Given the description of an element on the screen output the (x, y) to click on. 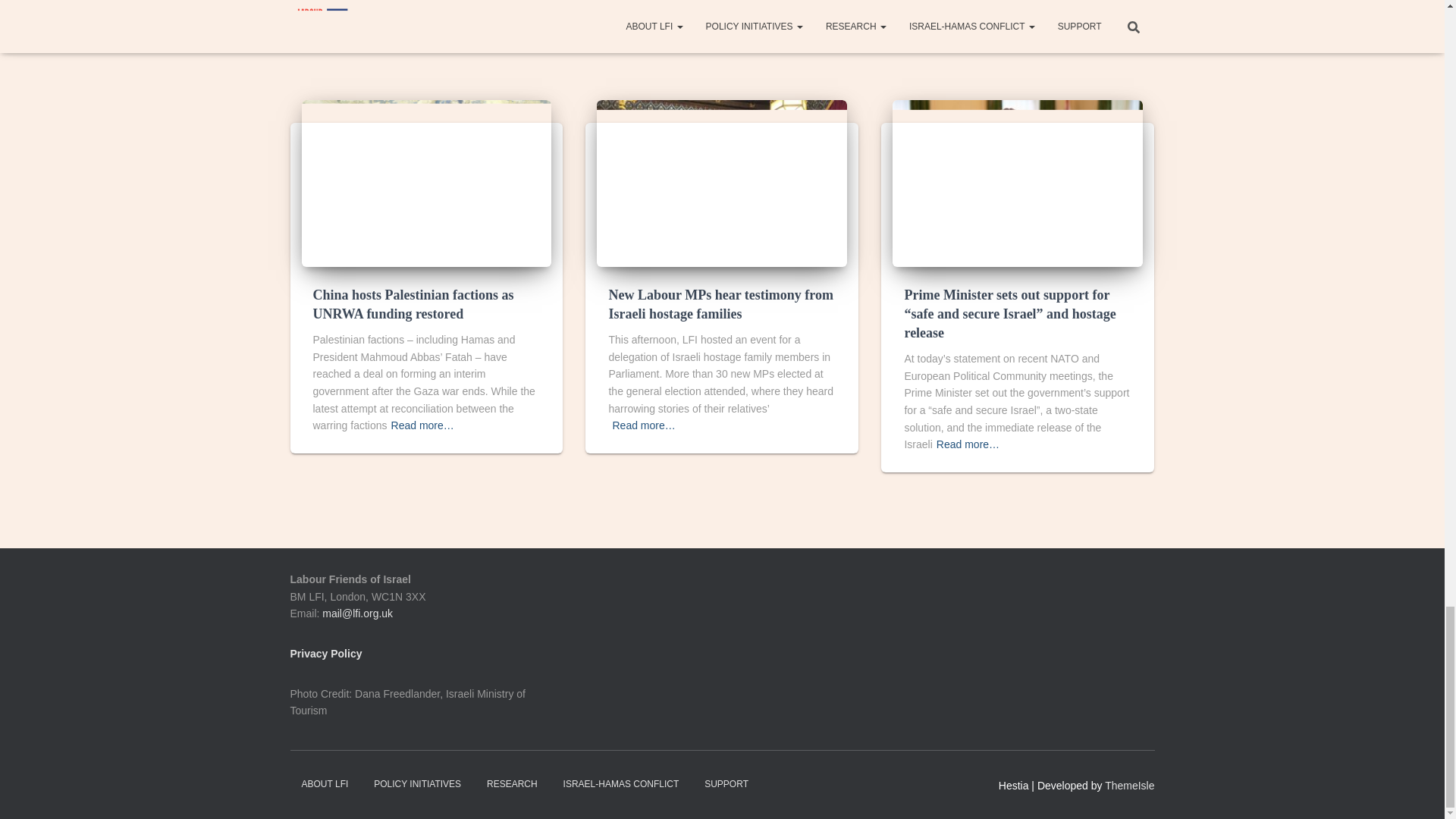
China hosts Palestinian factions as UNRWA funding restored (413, 304)
